Given the description of an element on the screen output the (x, y) to click on. 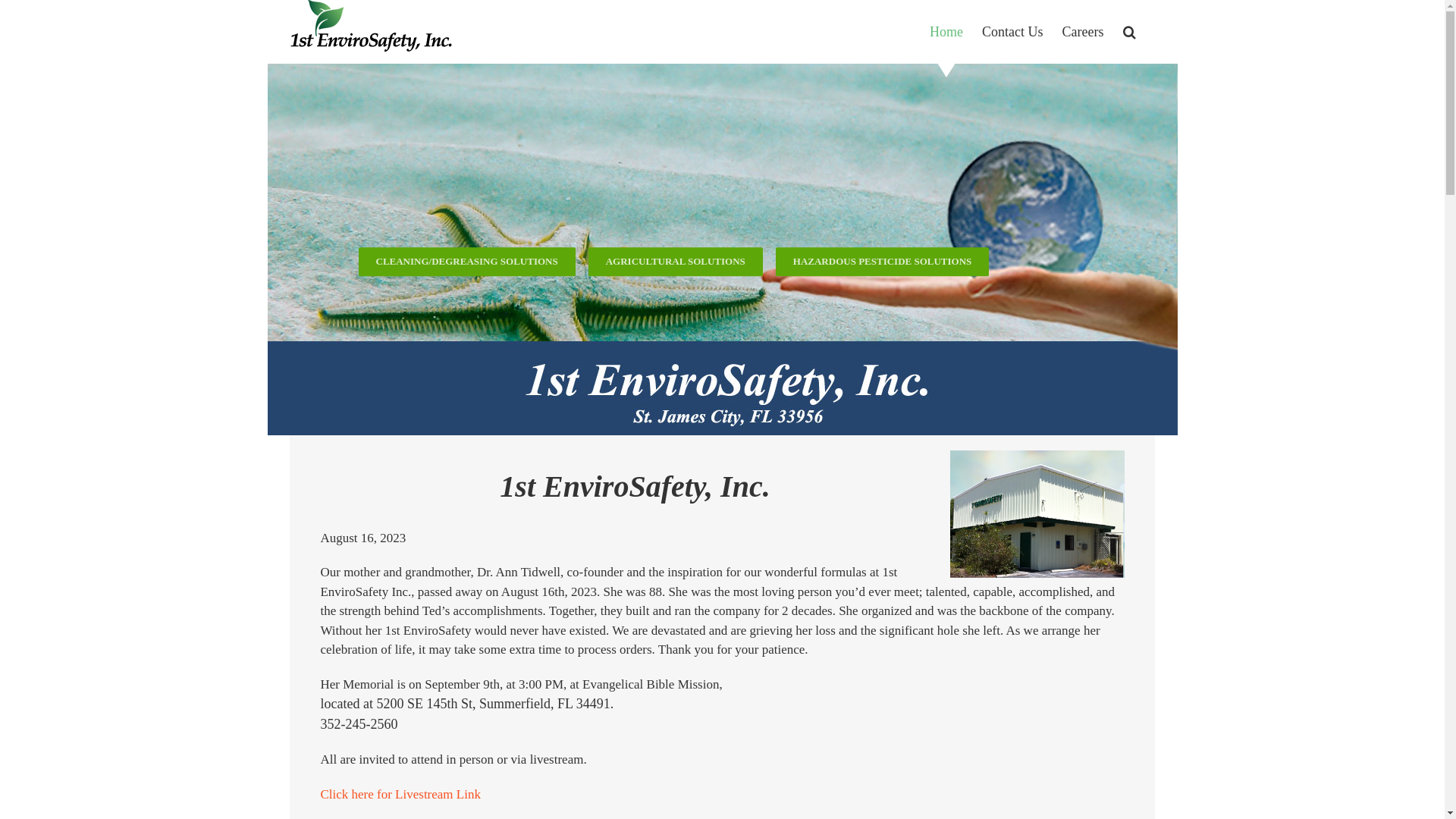
CLEANING/DEGREASING SOLUTIONS Element type: text (465, 261)
Careers Element type: text (1083, 31)
AGRICULTURAL SOLUTIONS Element type: text (675, 261)
Click here for Livestream Link Element type: text (400, 794)
Contact Us Element type: text (1012, 31)
HAZARDOUS PESTICIDE SOLUTIONS Element type: text (882, 261)
Home Element type: text (946, 31)
Search Element type: hover (1128, 31)
